Given the description of an element on the screen output the (x, y) to click on. 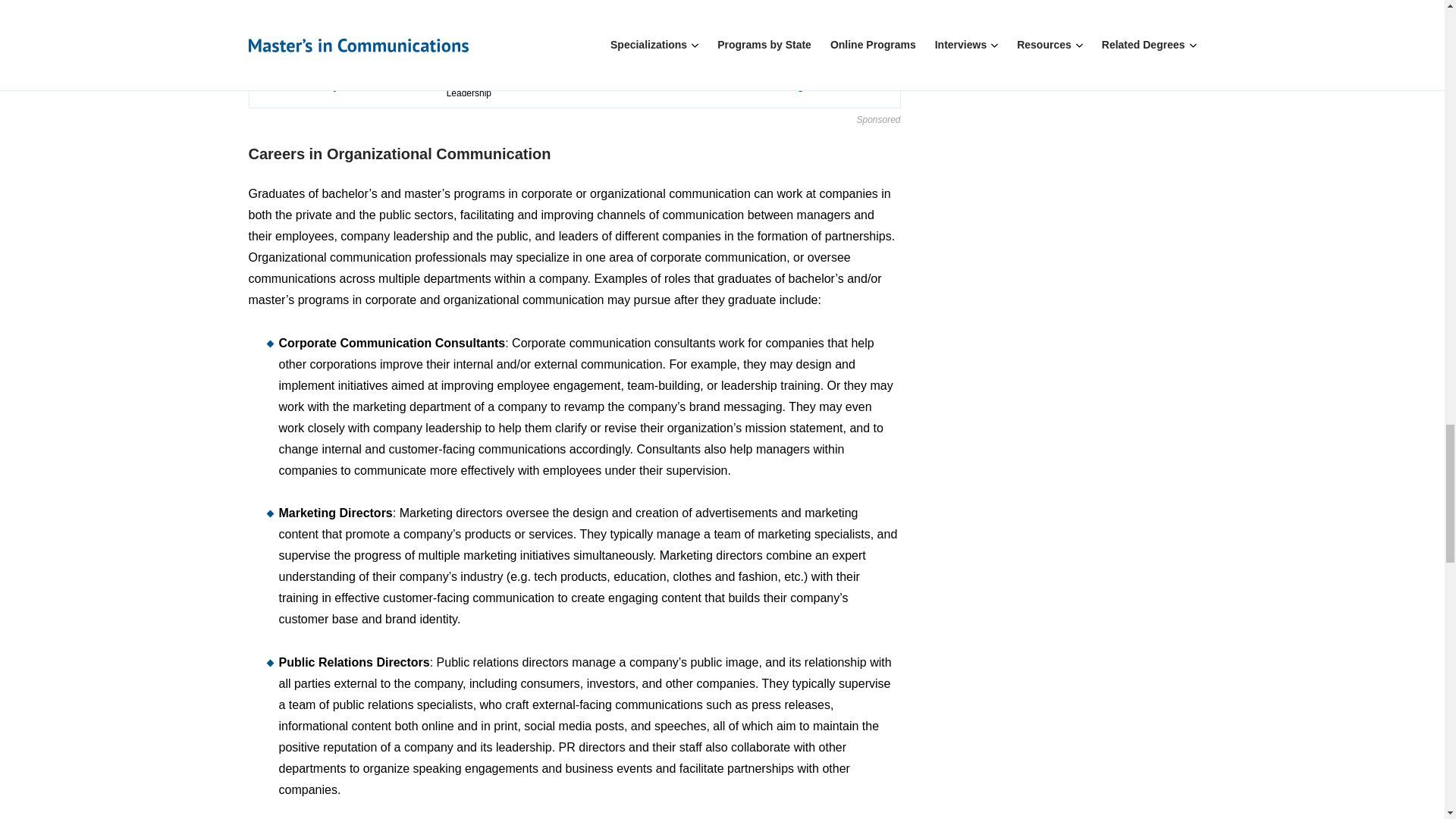
Request Information Directly from Drake University (822, 85)
Visit marketingcommunications.wvu.edu (822, 40)
To learn more visit online.maryville.edu (822, 4)
